Given the description of an element on the screen output the (x, y) to click on. 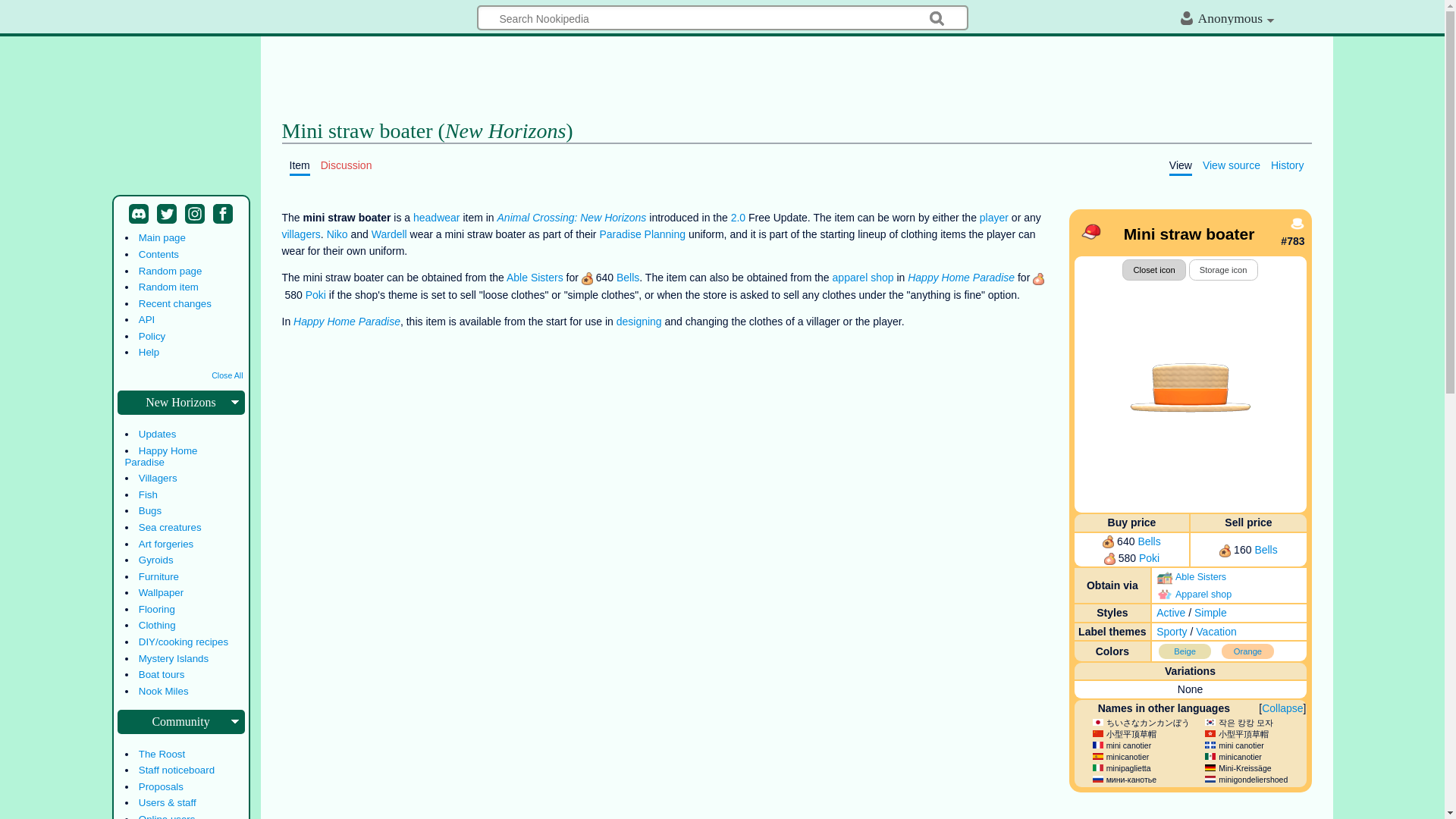
Sporty (1171, 631)
Bell (1264, 549)
Niko (336, 234)
2.0 (737, 217)
Simple (1210, 612)
Happy Home Paradise (960, 277)
Bell (1148, 541)
headwear (436, 217)
Beige (1185, 650)
Wardell (389, 234)
Mini straw boater (1190, 386)
Poki (1148, 558)
Collapse (1282, 707)
Item (299, 164)
Able Sisters (534, 277)
